Given the description of an element on the screen output the (x, y) to click on. 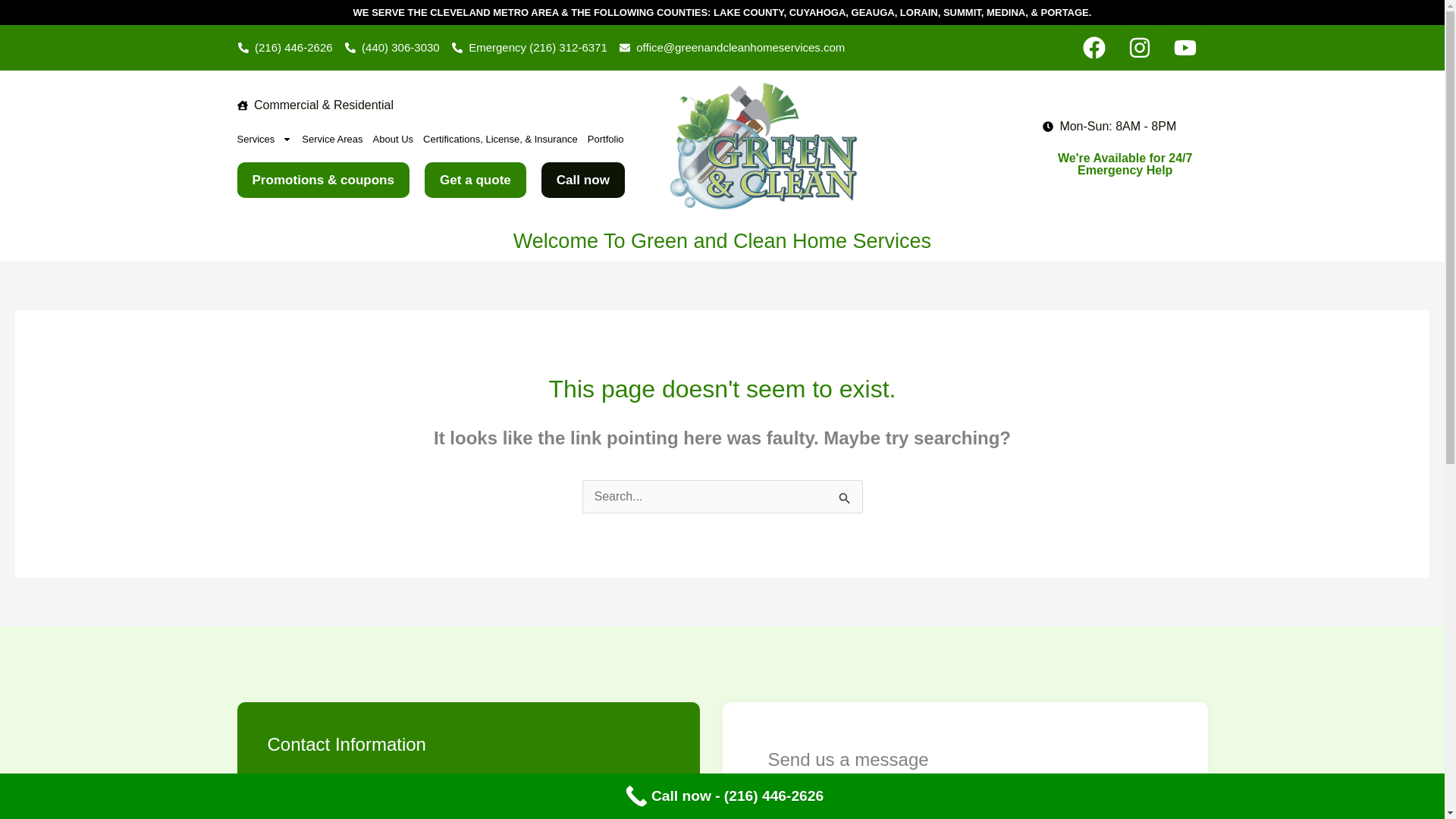
Services (263, 139)
Service Areas (331, 139)
Instagram (1138, 47)
Youtube (1184, 47)
Facebook (1093, 47)
